Given the description of an element on the screen output the (x, y) to click on. 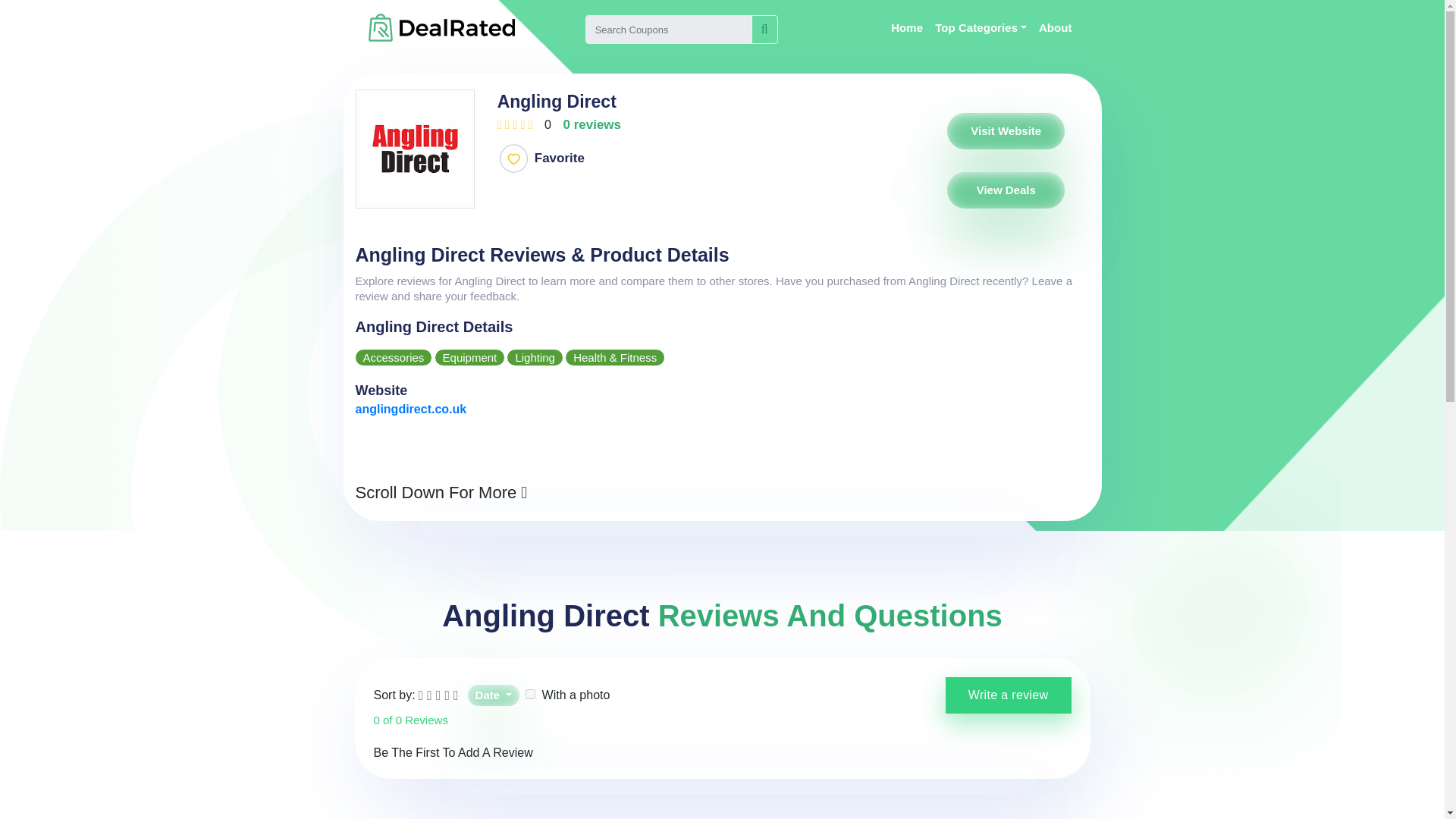
About (1055, 27)
Home (906, 27)
Write a review (1007, 695)
Equipment (470, 357)
on (530, 694)
Visit Website (1005, 131)
Scroll Down For More (441, 492)
View Deals (1005, 189)
Date (493, 694)
Favorite (544, 158)
